Given the description of an element on the screen output the (x, y) to click on. 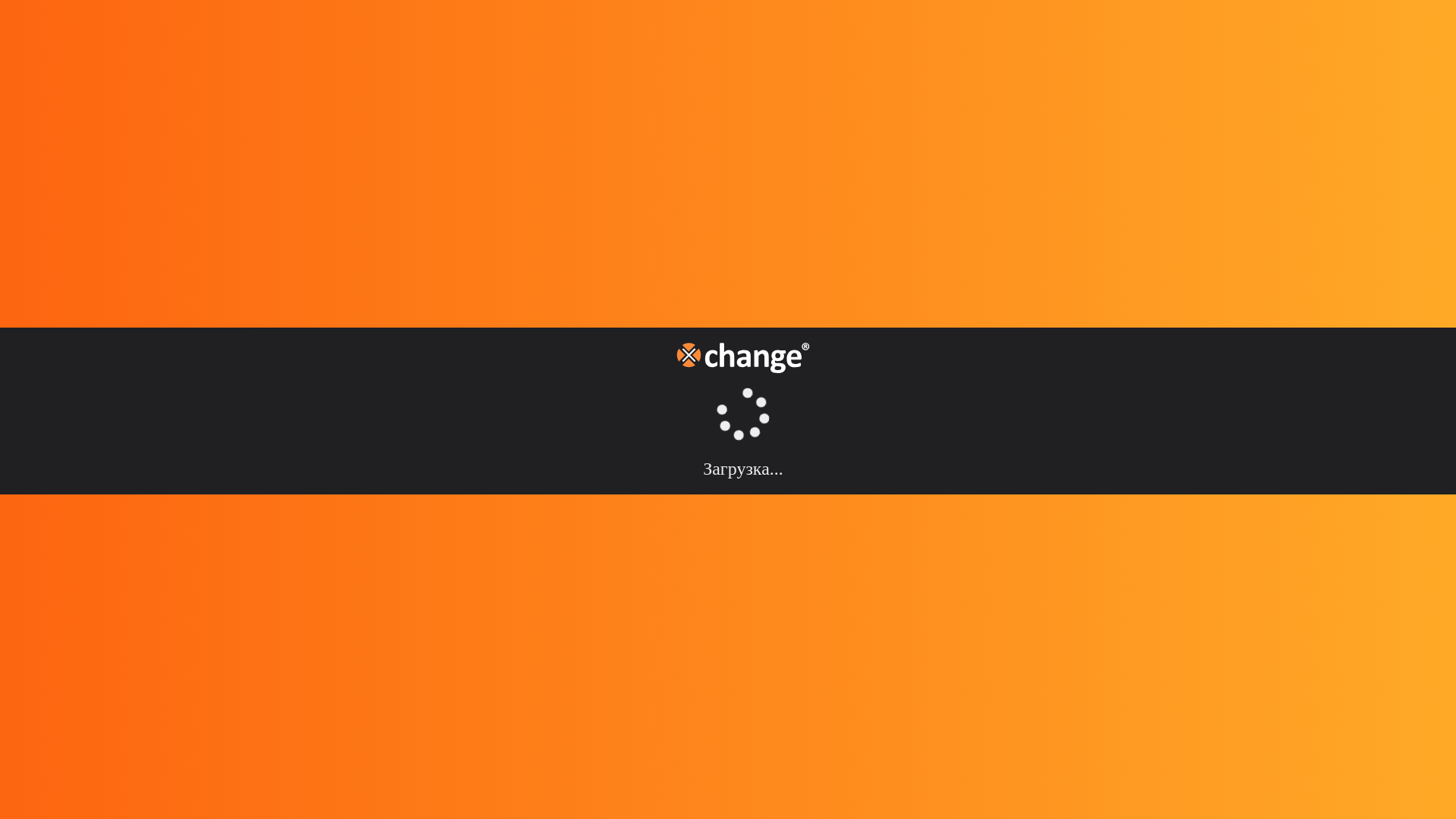
  Element type: text (13, 186)
Deutsch Element type: text (39, 282)
Eesti Element type: text (30, 255)
English Element type: text (37, 214)
